Given the description of an element on the screen output the (x, y) to click on. 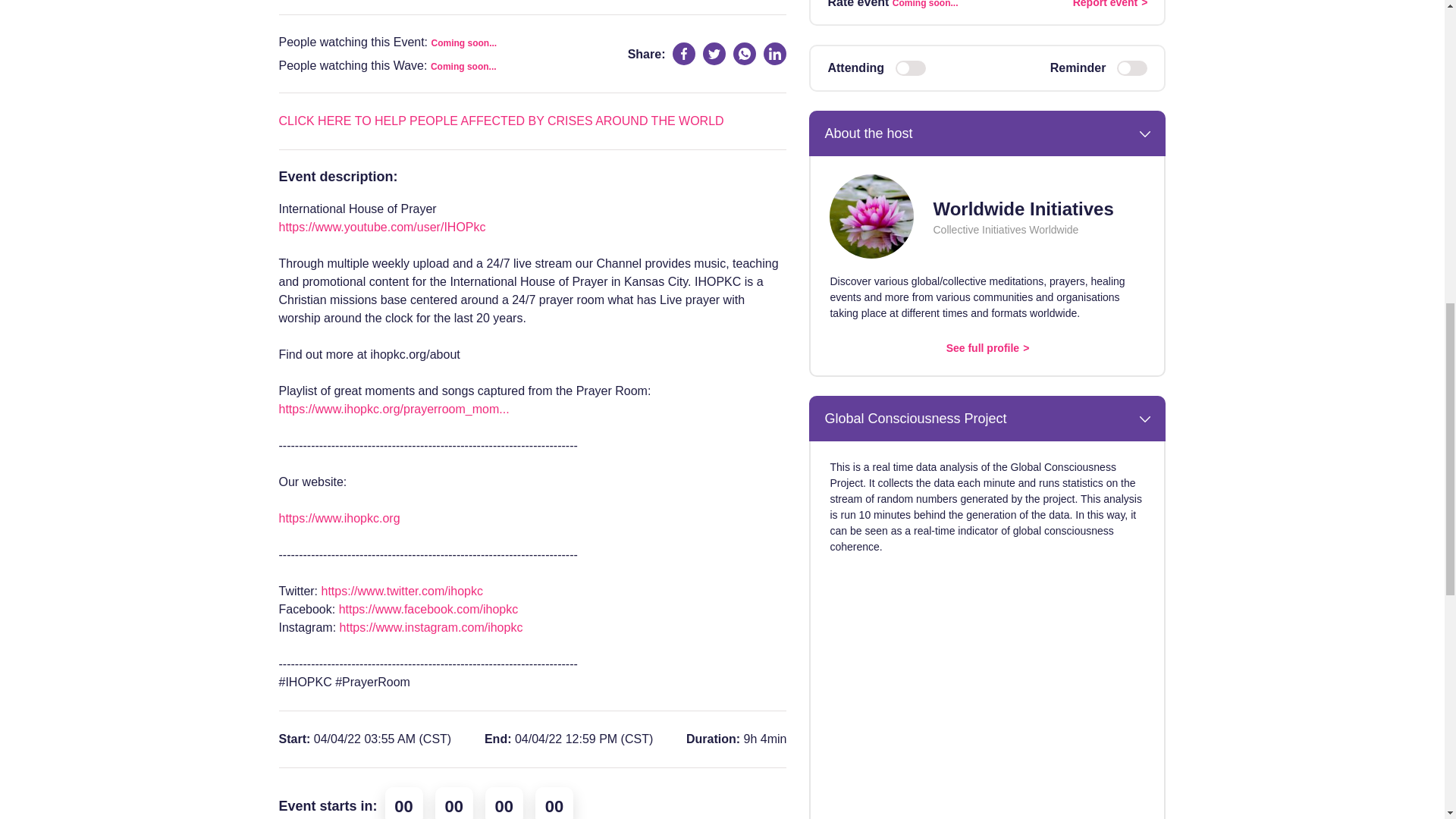
Coming soon... (463, 66)
Coming soon... (463, 42)
